Given the description of an element on the screen output the (x, y) to click on. 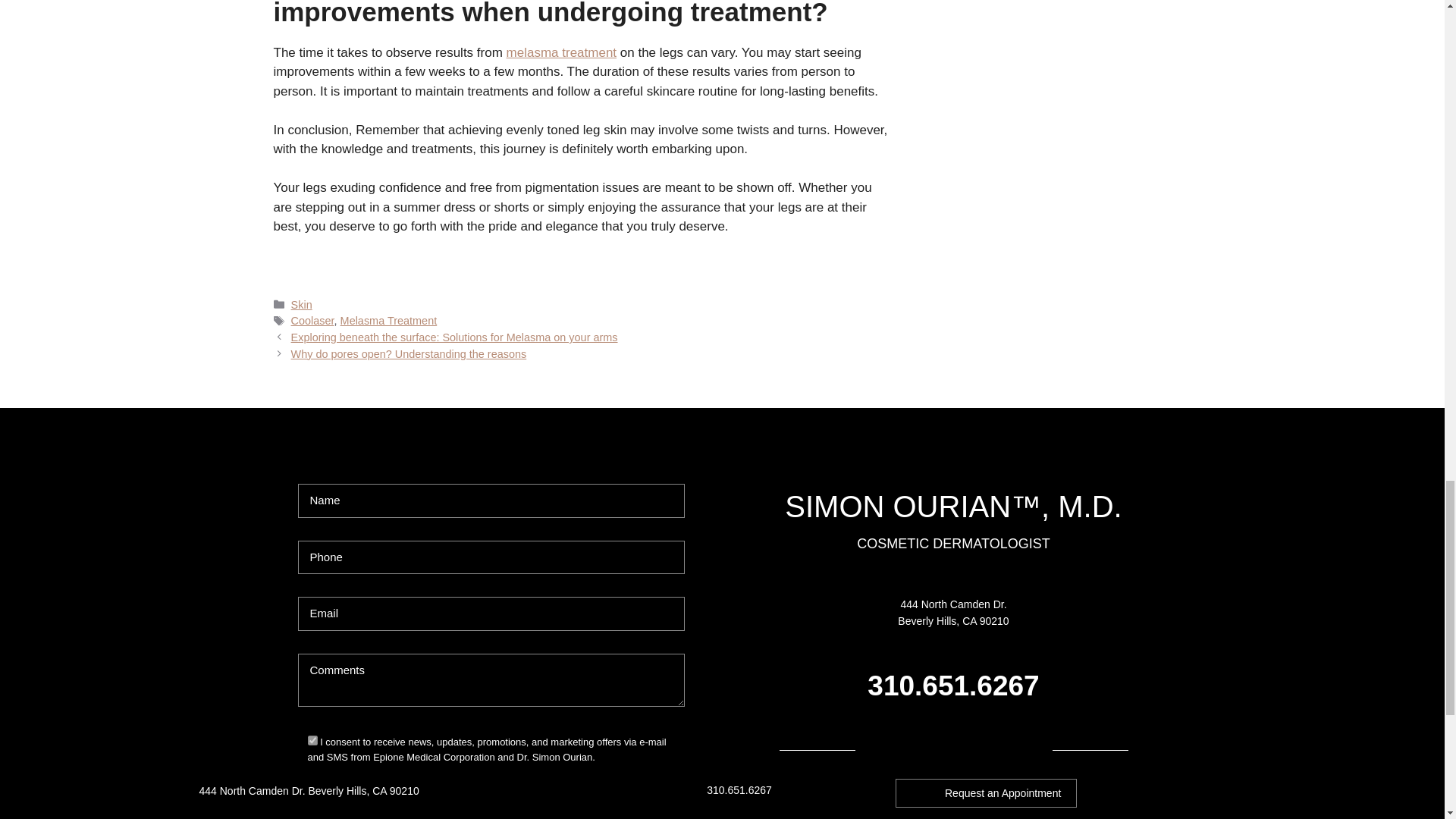
Next (409, 354)
Previous (454, 337)
1 (312, 740)
SEND REQUEST (490, 803)
